Given the description of an element on the screen output the (x, y) to click on. 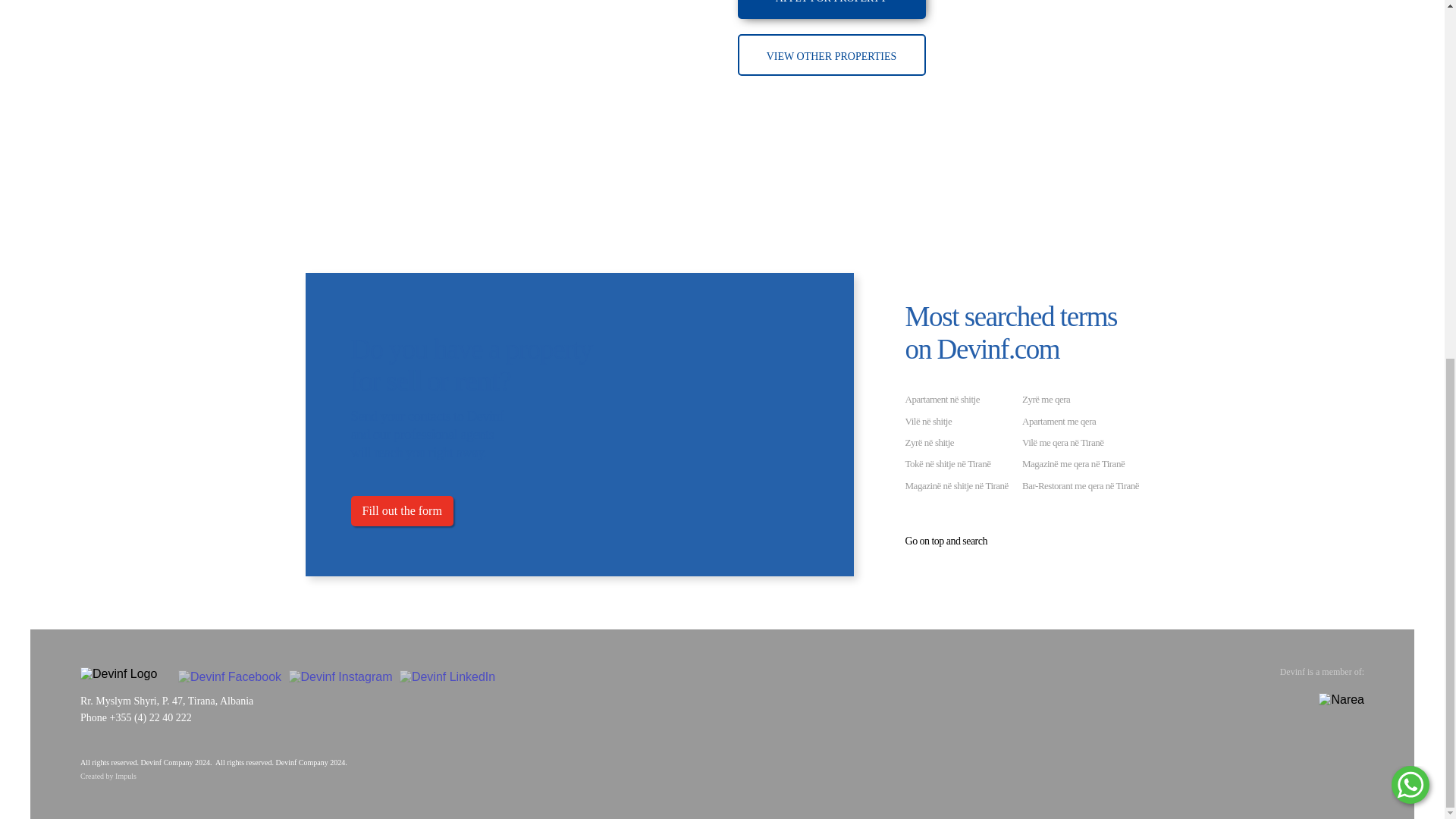
VIEW OTHER PROPERTIES (830, 55)
APPLY FOR PROPERTY (830, 9)
Fill out the form (401, 511)
Go on top and search (946, 541)
Apartament me qera (1059, 420)
